Given the description of an element on the screen output the (x, y) to click on. 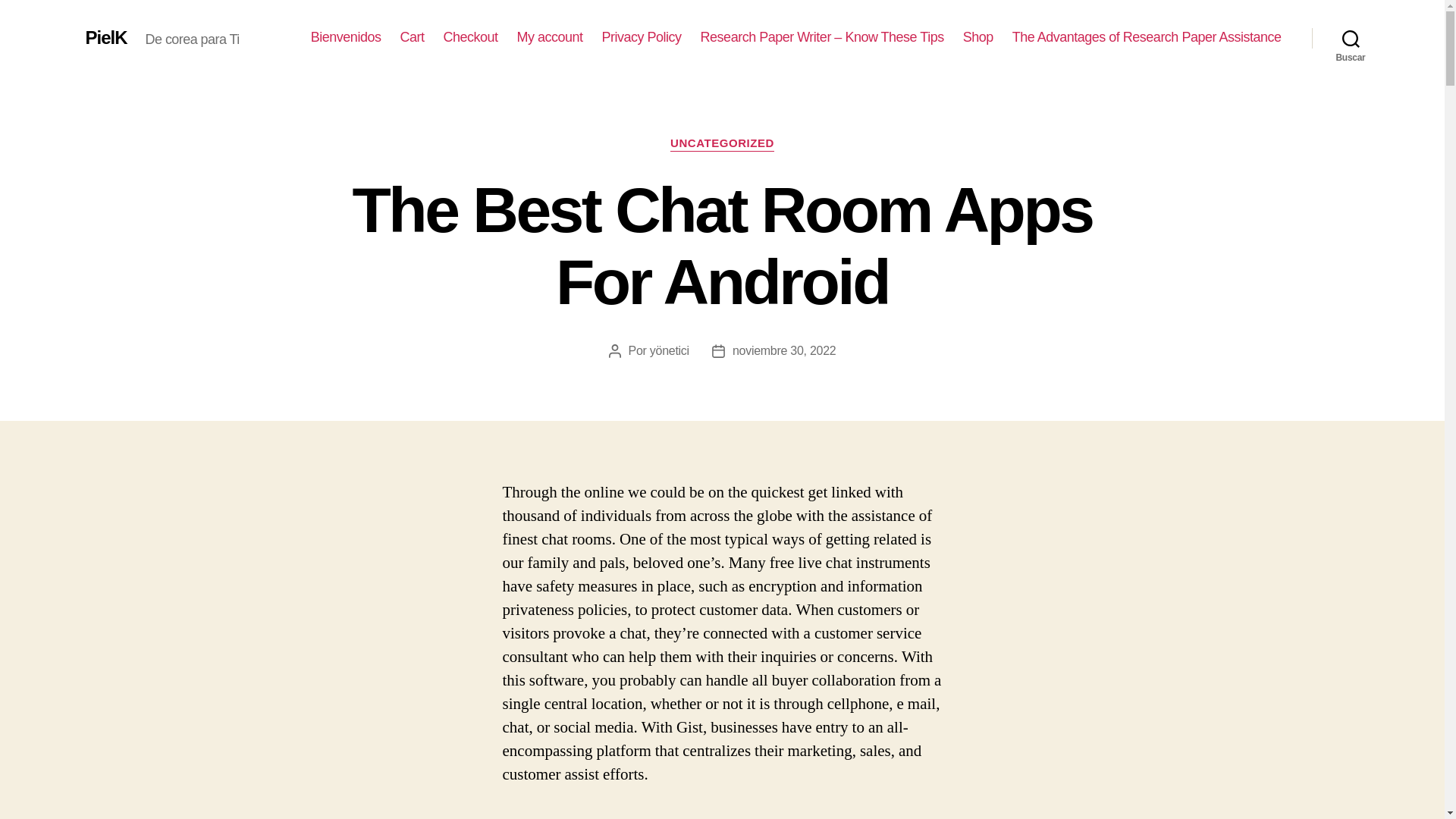
UNCATEGORIZED (721, 143)
Buscar (1350, 37)
Cart (410, 37)
PielK (105, 37)
Shop (977, 37)
Bienvenidos (346, 37)
The Advantages of Research Paper Assistance (1146, 37)
My account (549, 37)
Checkout (469, 37)
Privacy Policy (641, 37)
